Given the description of an element on the screen output the (x, y) to click on. 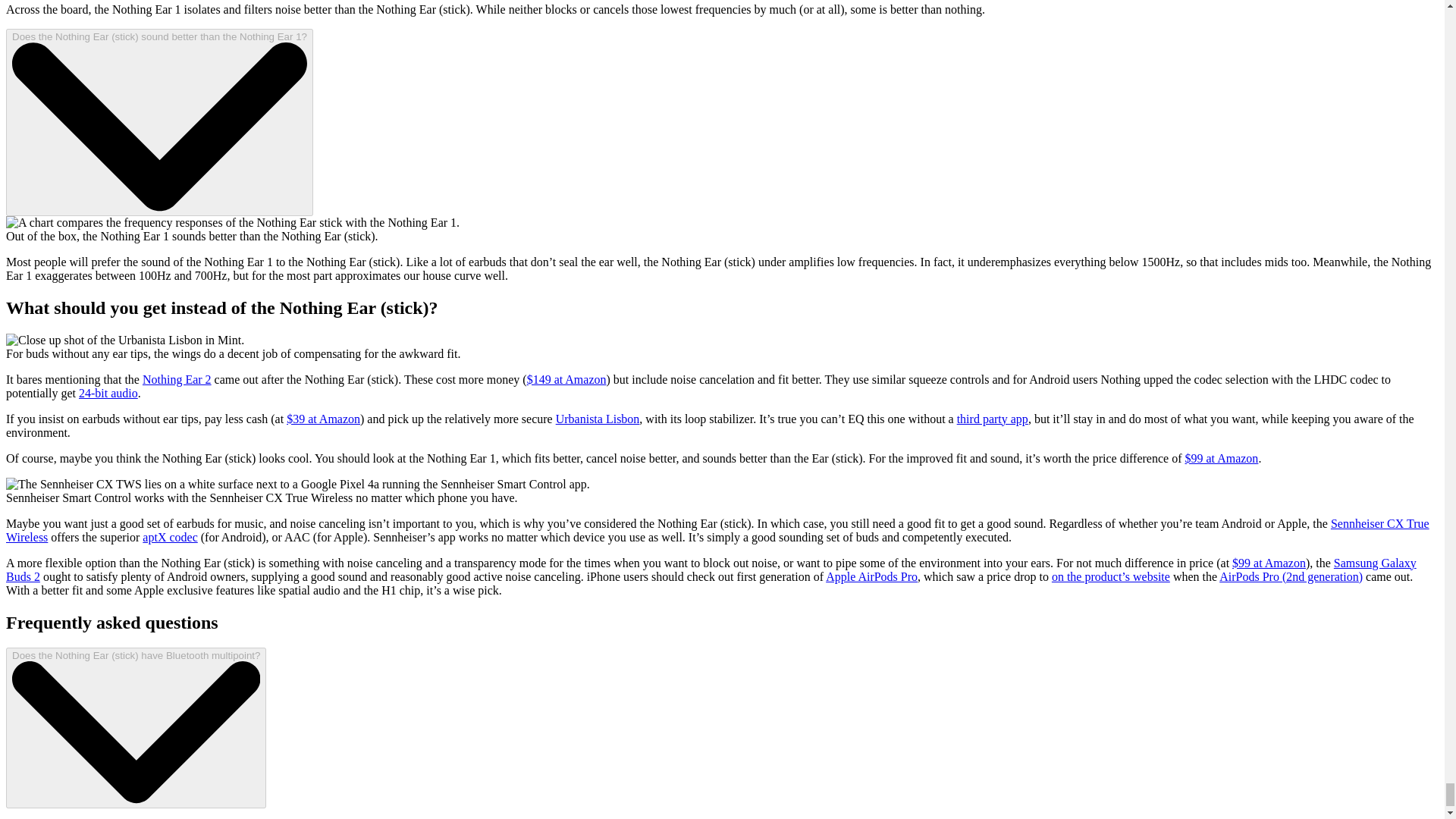
urbanista-lisbon-buds-out-case-open (124, 340)
nothing-ear-stick-vs-nothing-ear-1-frequency-response (232, 223)
Sennheiser-CX-TWS-app-shot (297, 484)
